Given the description of an element on the screen output the (x, y) to click on. 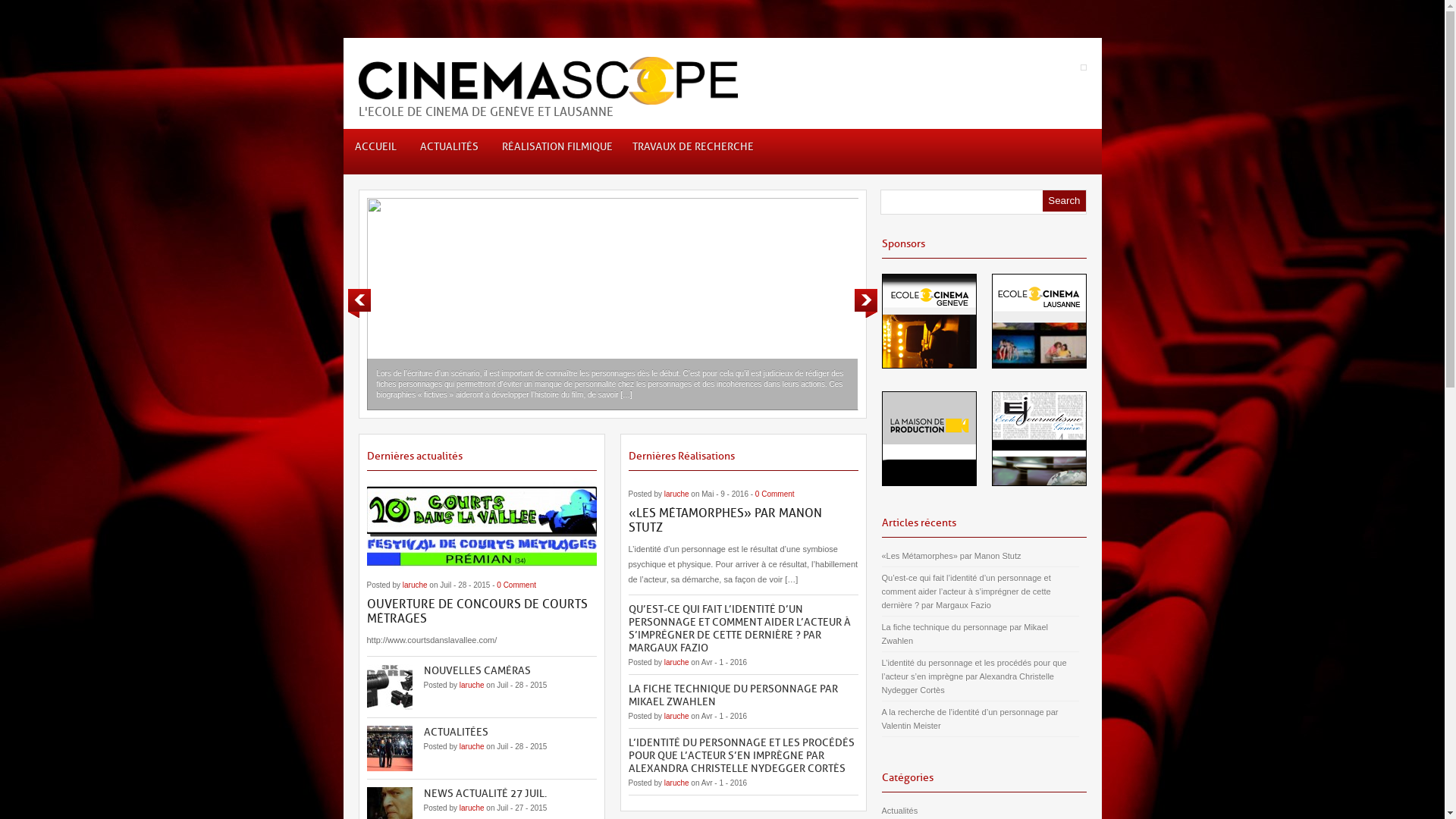
Next Element type: text (864, 302)
laruche Element type: text (676, 493)
laruche Element type: text (471, 807)
laruche Element type: text (676, 782)
La Maison de Production Element type: hover (928, 481)
LA FICHE TECHNIQUE DU PERSONNAGE PAR MIKAEL ZWAHLEN Element type: text (732, 695)
laruche Element type: text (414, 584)
Ecole de Journalisme Element type: hover (1038, 481)
0 Comment Element type: text (516, 584)
laruche Element type: text (676, 662)
Search Element type: text (1063, 200)
ACCUEIL Element type: text (374, 151)
0 Comment Element type: text (774, 493)
CinemaScope Element type: hover (547, 94)
Previous Element type: text (358, 302)
laruche Element type: text (471, 746)
laruche Element type: text (471, 684)
TRAVAUX DE RECHERCHE Element type: text (690, 151)
La fiche technique du personnage par Mikael Zwahlen Element type: text (979, 634)
laruche Element type: text (676, 716)
